Given the description of an element on the screen output the (x, y) to click on. 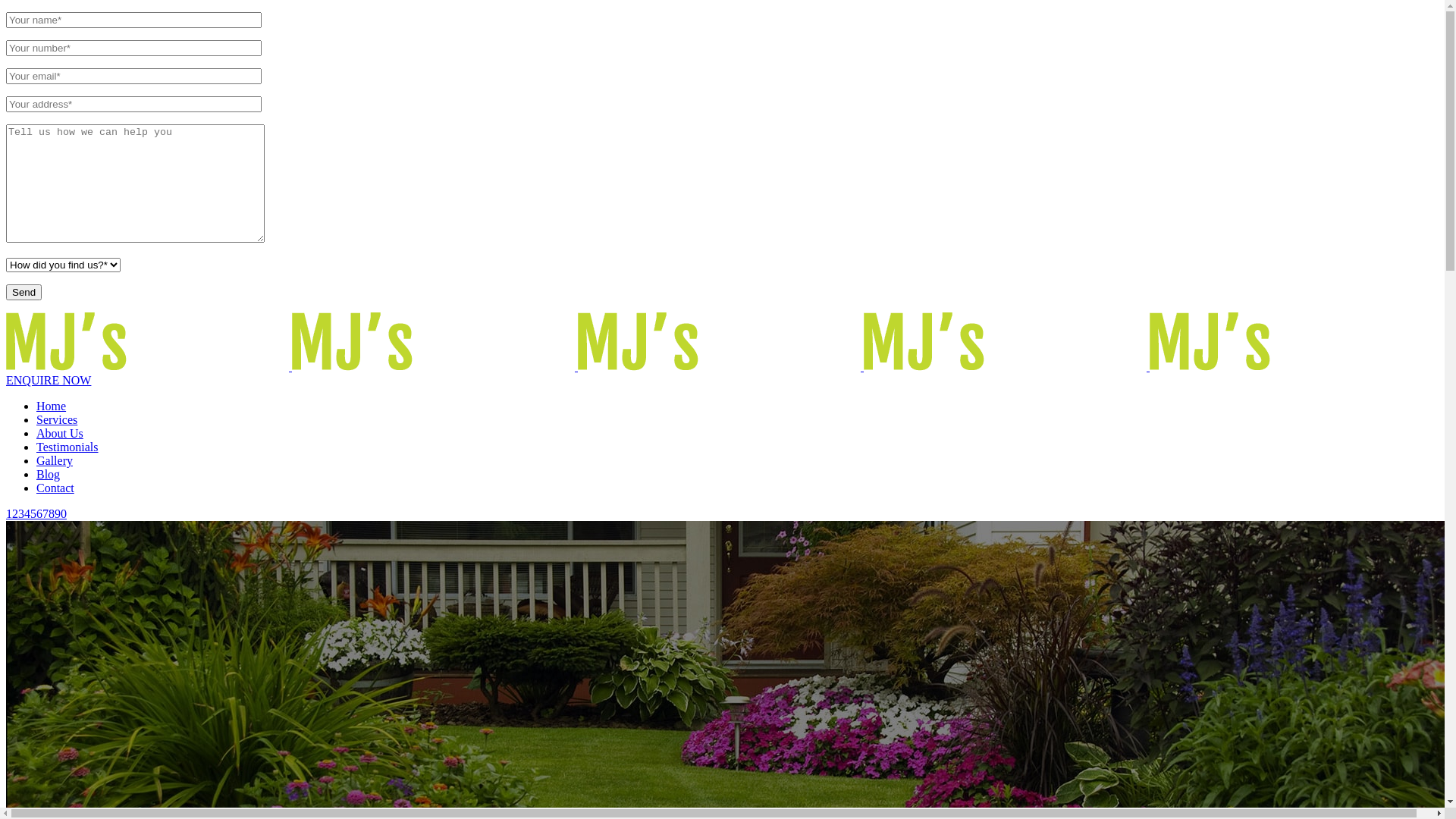
Testimonials Element type: text (67, 446)
ENQUIRE NOW Element type: text (48, 379)
Contact Element type: text (55, 487)
Blog Element type: text (47, 473)
Send Element type: text (23, 292)
About Us Element type: text (59, 432)
Gallery Element type: text (54, 460)
Services Element type: text (56, 419)
Home Element type: text (50, 405)
1234567890 Element type: text (36, 513)
